Given the description of an element on the screen output the (x, y) to click on. 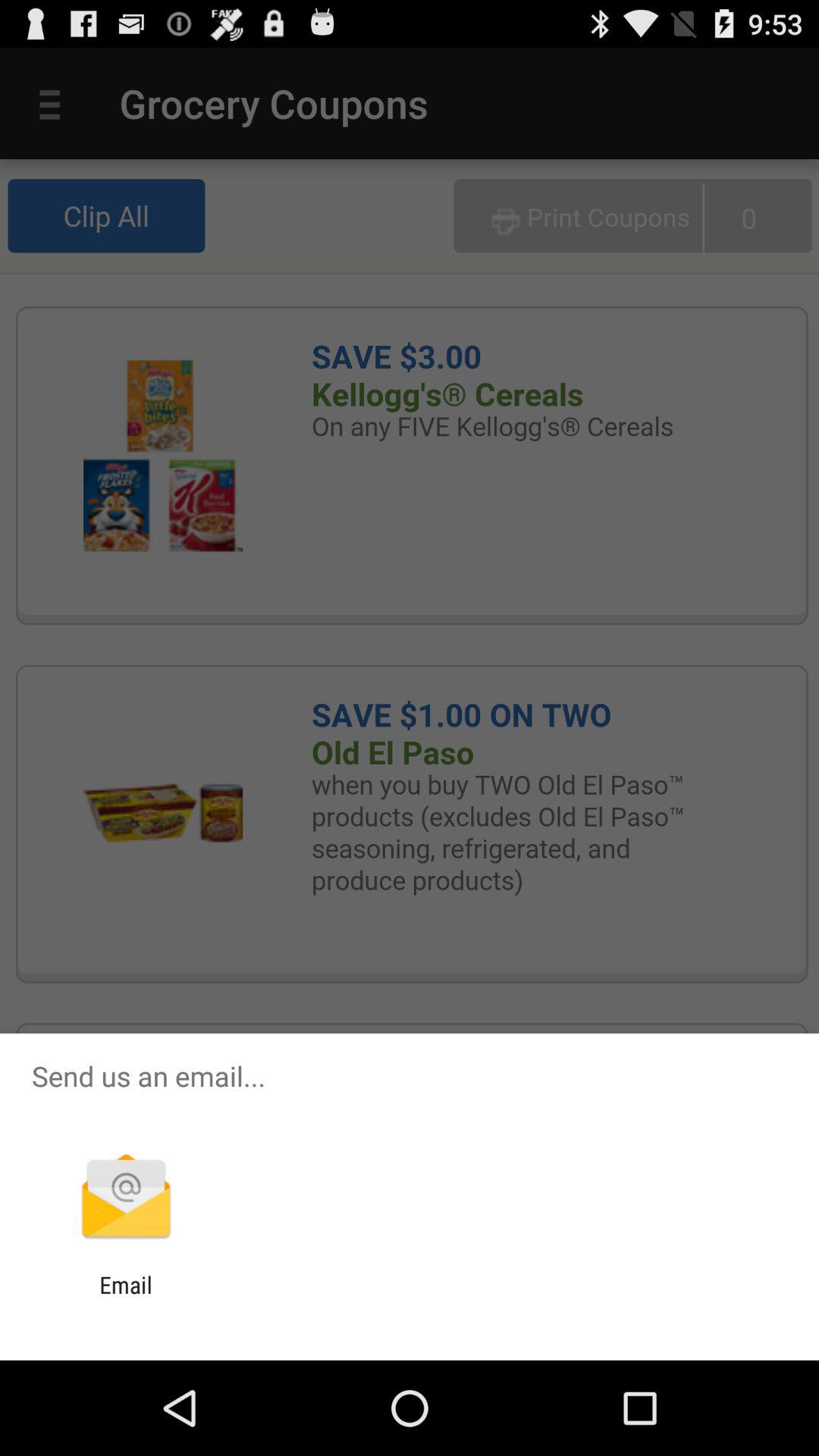
select app below send us an (126, 1198)
